Given the description of an element on the screen output the (x, y) to click on. 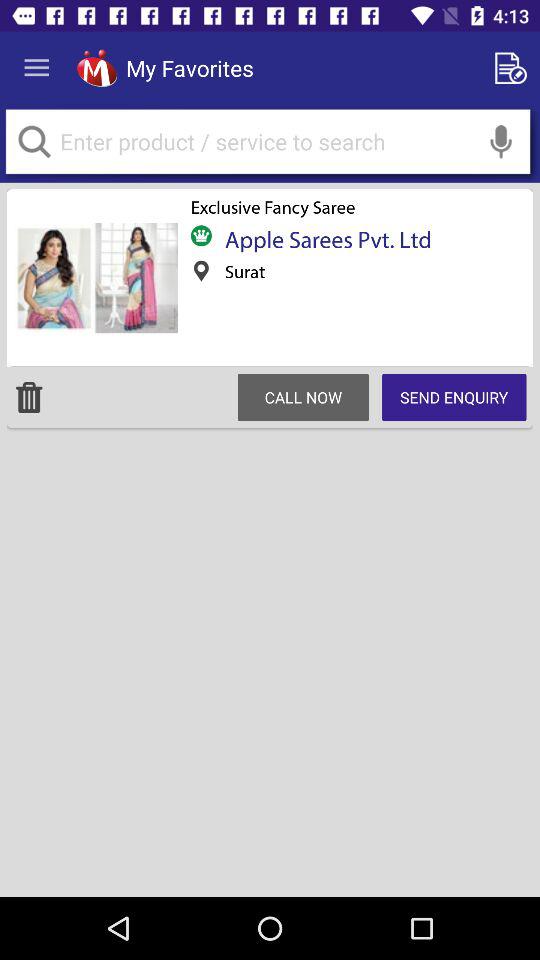
open the item to the right of call now icon (454, 397)
